Given the description of an element on the screen output the (x, y) to click on. 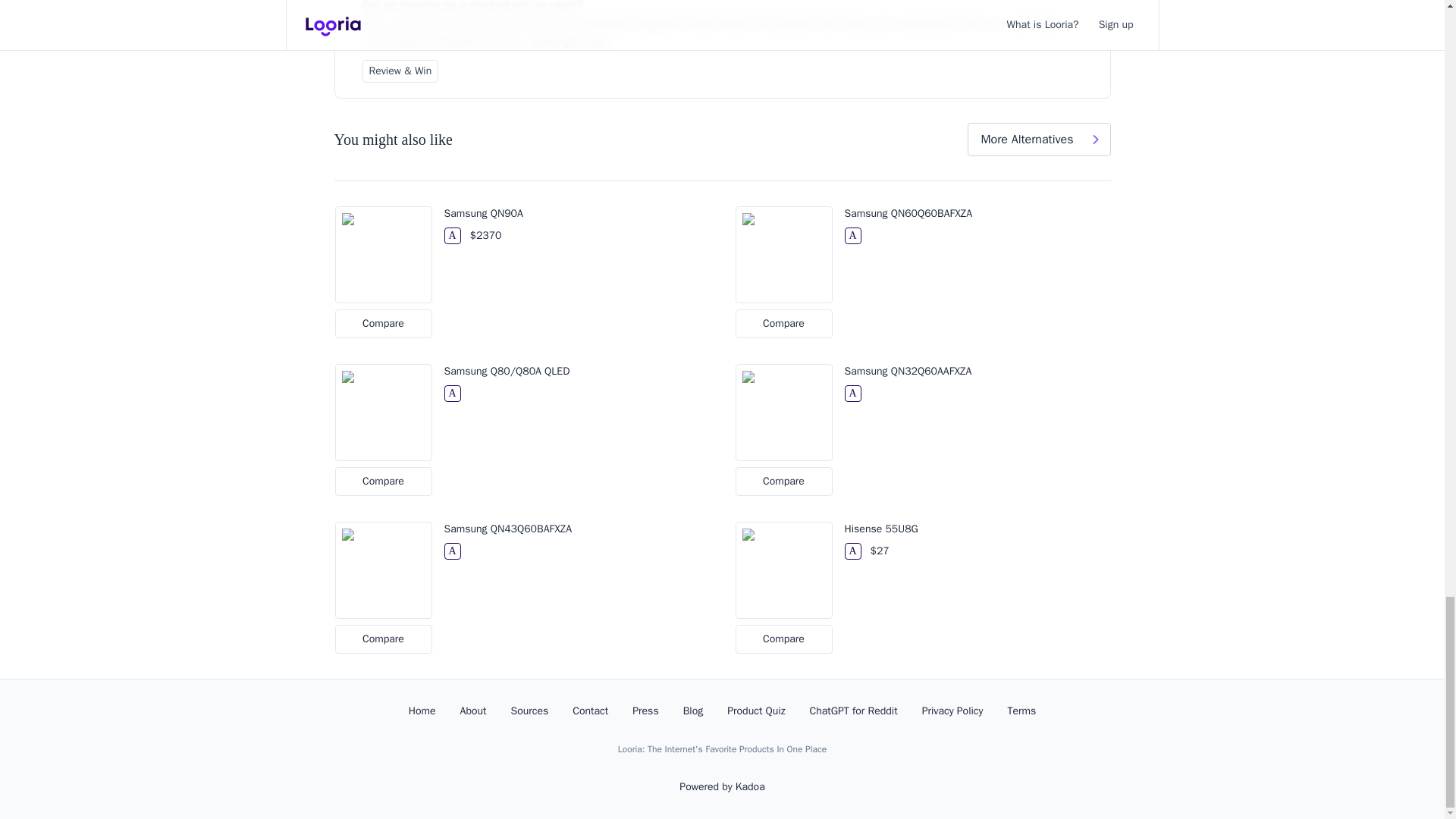
More Alternatives (1038, 139)
Compare (383, 323)
Compare (383, 481)
Compare (783, 323)
